Given the description of an element on the screen output the (x, y) to click on. 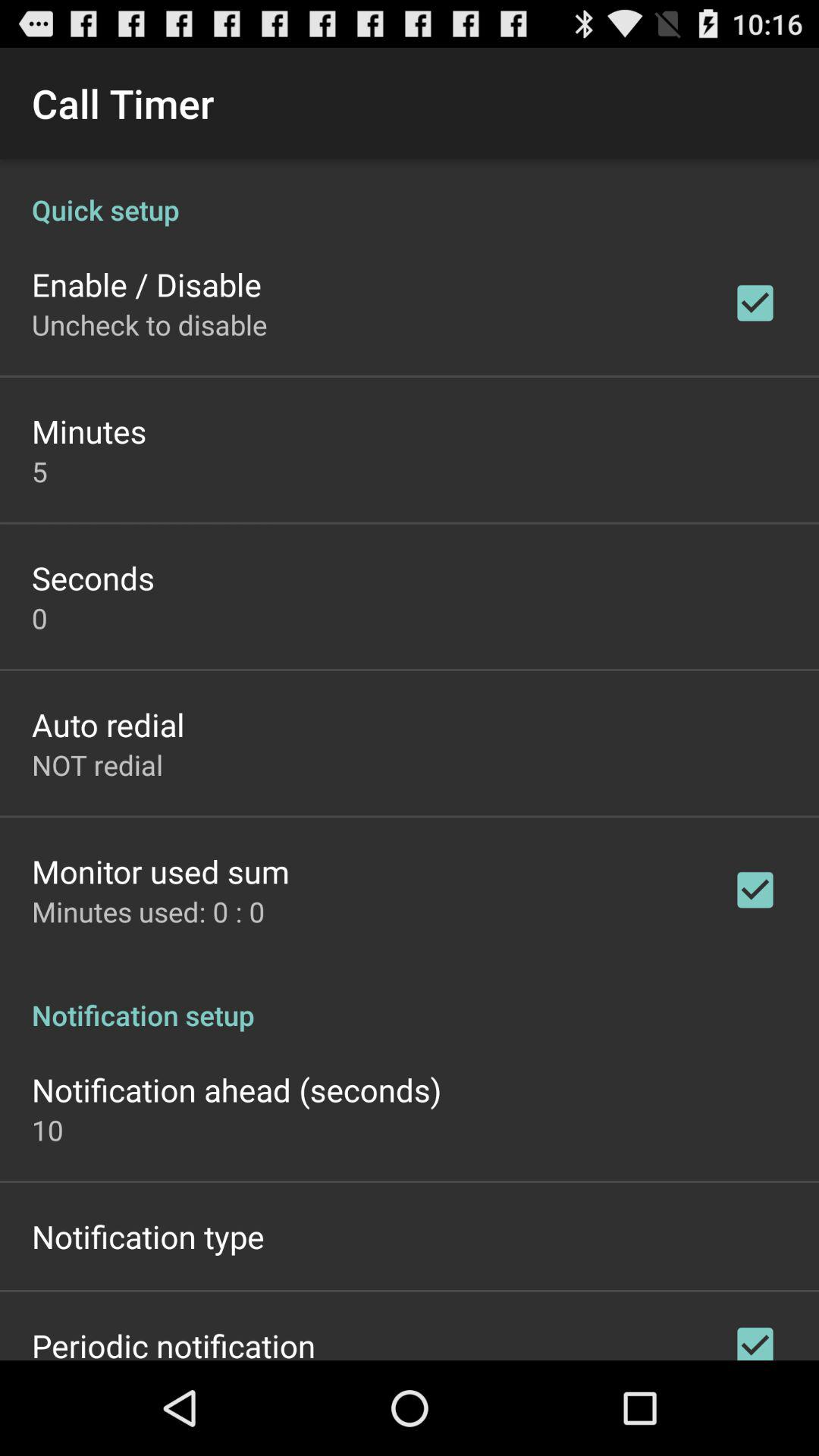
swipe to the auto redial app (107, 724)
